Given the description of an element on the screen output the (x, y) to click on. 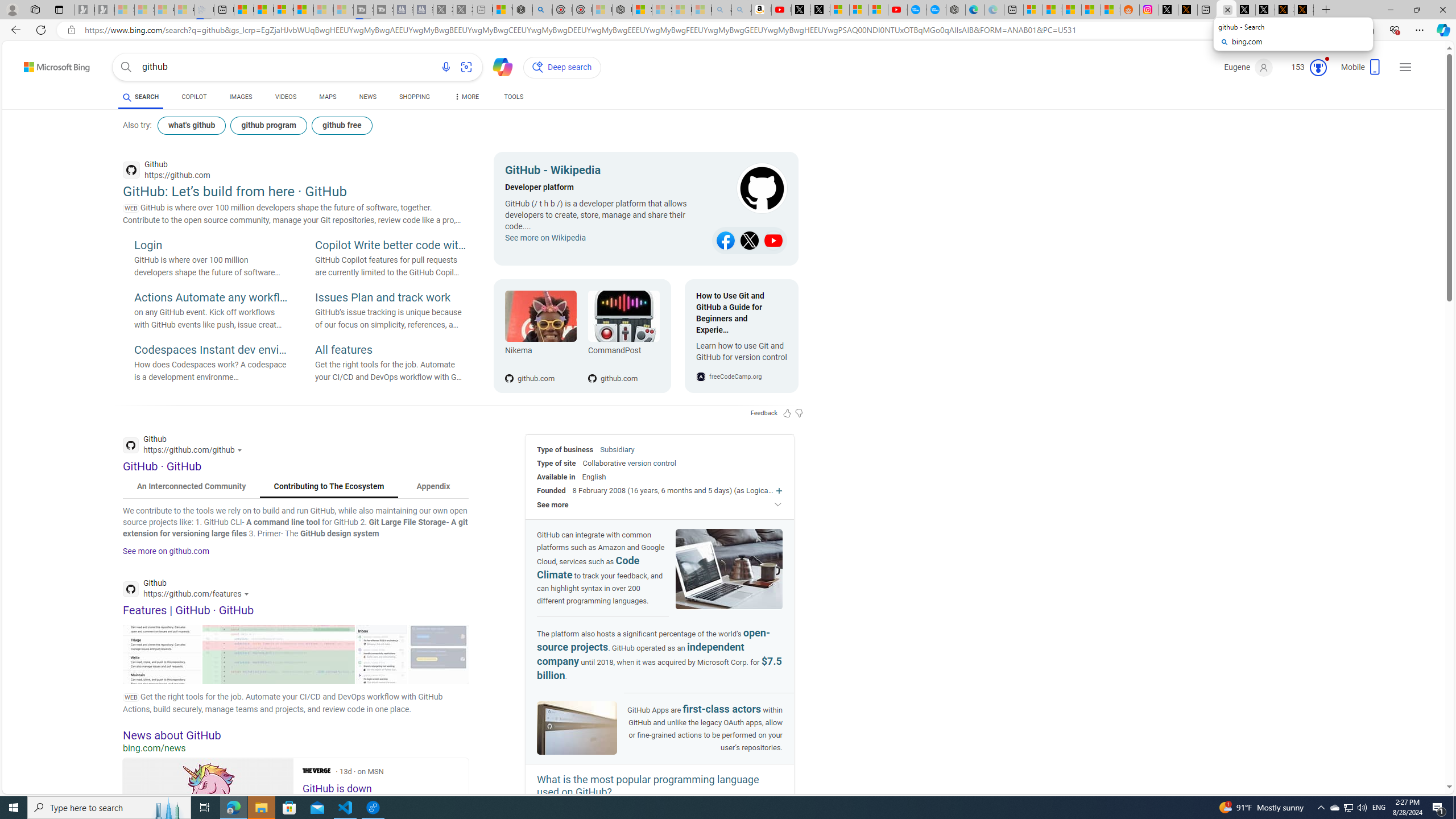
Class: medal-circled (1317, 67)
Feedback Like (786, 412)
Chat (497, 65)
what's github (191, 125)
poe - Search (542, 9)
GitHub - Wikipedia (604, 171)
Nordace - Nordace has arrived Hong Kong (954, 9)
AutomationID: mfa_root (1406, 752)
